Given the description of an element on the screen output the (x, y) to click on. 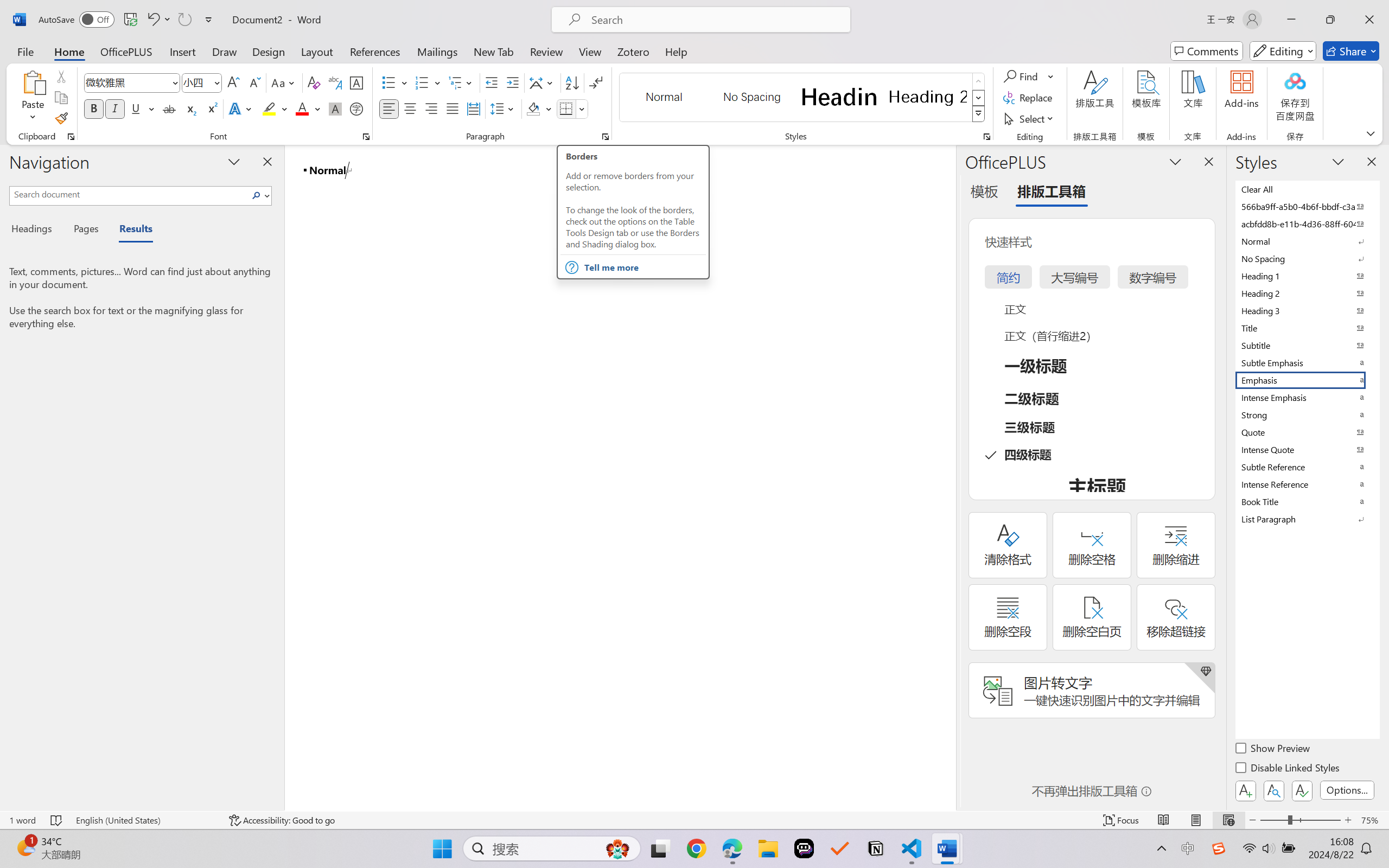
Ribbon Display Options (1370, 132)
Open (215, 82)
566ba9ff-a5b0-4b6f-bbdf-c3ab41993fc2 (1306, 206)
Styles... (986, 136)
Normal (1306, 240)
Customize Quick Access Toolbar (208, 19)
Subtitle (1306, 345)
Zotero (632, 51)
AutomationID: QuickStylesGallery (802, 97)
Intense Reference (1306, 484)
Change Case (284, 82)
Subscript (190, 108)
Comments (1206, 50)
